Given the description of an element on the screen output the (x, y) to click on. 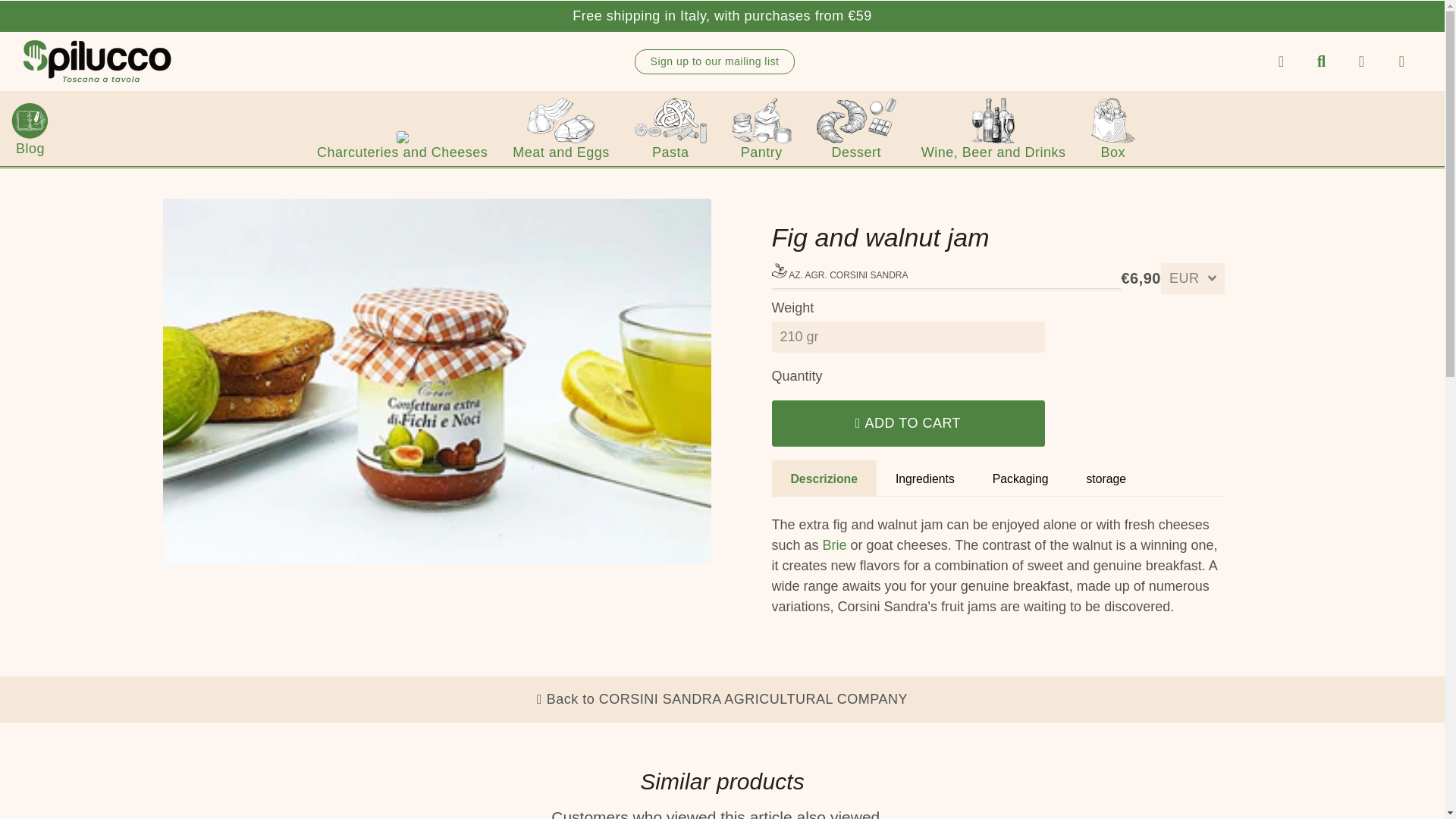
AZ. AGR. CORSINI SANDRA (839, 275)
Pasta (670, 128)
Charcuteries and Cheeses (402, 145)
ADD TO CART (908, 423)
Pantry (761, 128)
Log In (1361, 61)
Spilucco (97, 61)
Search (1321, 61)
Brie (834, 544)
Meat and Eggs (560, 128)
home (1281, 61)
Descrizione (823, 478)
Wine, Beer and Drinks (993, 128)
Cart (1402, 61)
Sign up to our mailing list (714, 60)
